Given the description of an element on the screen output the (x, y) to click on. 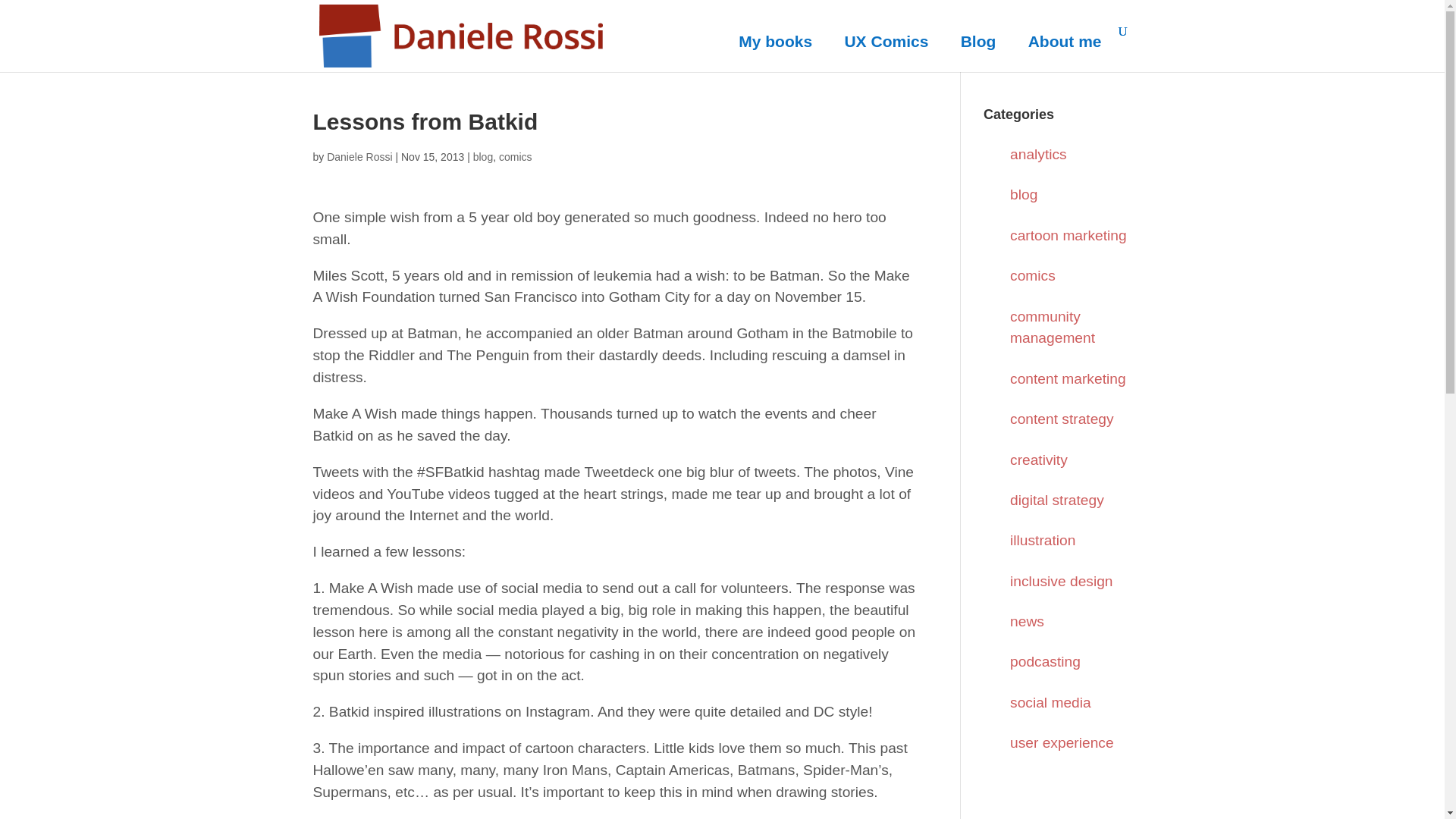
comics (515, 156)
digital strategy (1056, 499)
comics (1032, 275)
user experience (1061, 742)
blog (1023, 194)
analytics (1038, 154)
news (1026, 621)
content marketing (1067, 378)
content strategy (1061, 418)
Posts by Daniele Rossi (358, 156)
